Given the description of an element on the screen output the (x, y) to click on. 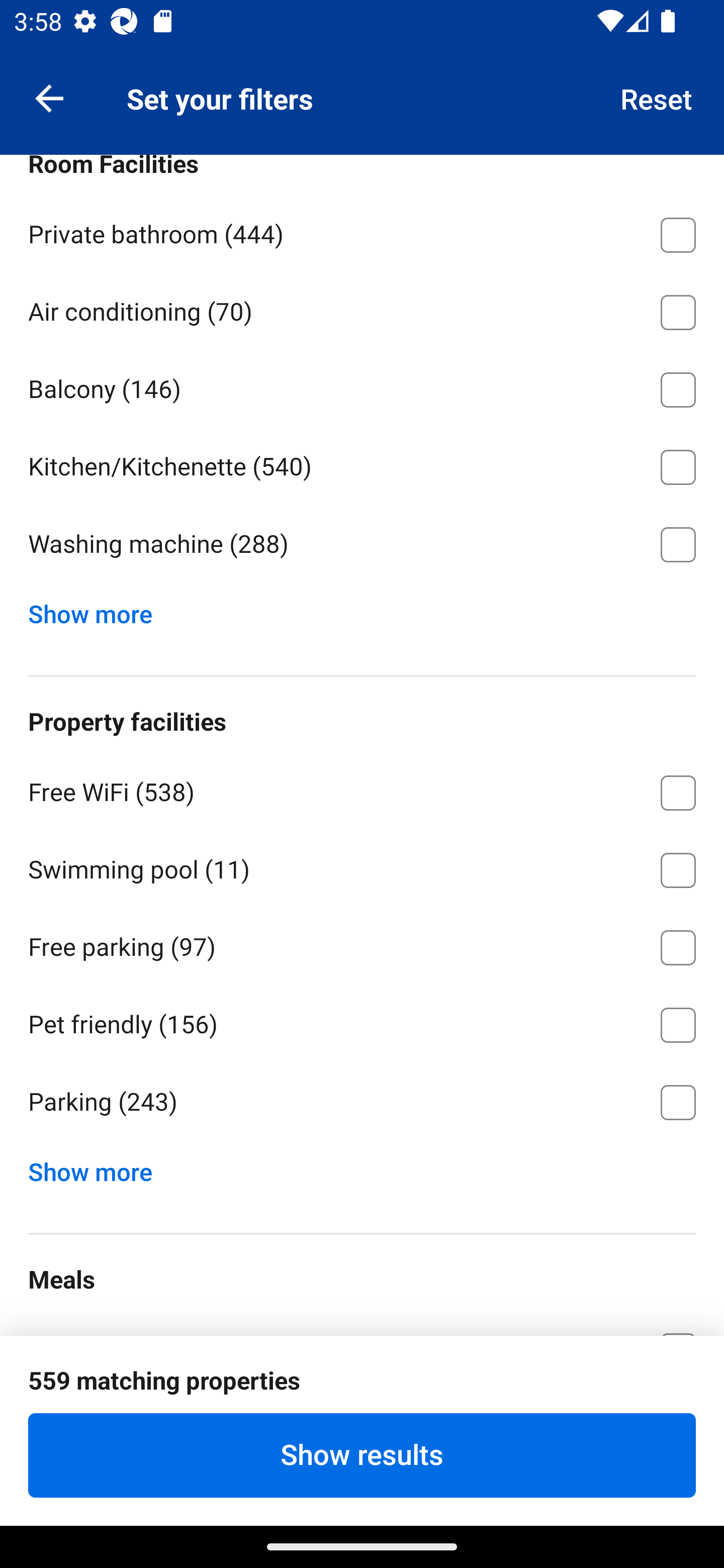
Navigate up (49, 97)
Reset (656, 97)
Private bathroom ⁦(444) (361, 230)
Air conditioning ⁦(70) (361, 308)
Balcony ⁦(146) (361, 386)
Kitchen/Kitchenette ⁦(540) (361, 463)
Washing machine ⁦(288) (361, 544)
Show more (97, 609)
Free WiFi ⁦(538) (361, 789)
Swimming pool ⁦(11) (361, 866)
Free parking ⁦(97) (361, 944)
Pet friendly ⁦(156) (361, 1021)
Parking ⁦(243) (361, 1101)
Show more (97, 1167)
Show results (361, 1454)
